Given the description of an element on the screen output the (x, y) to click on. 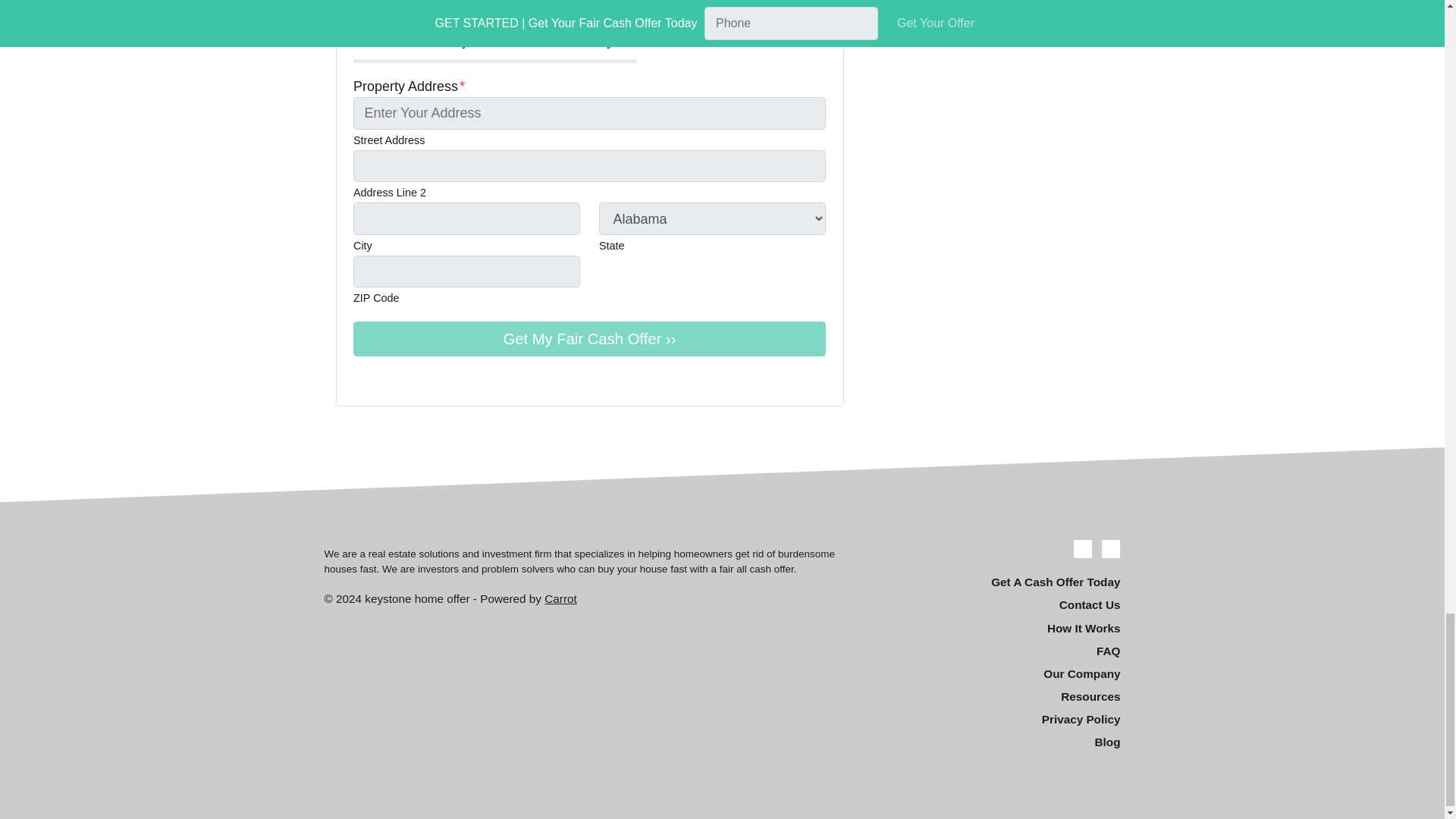
Privacy Policy (995, 719)
Instagram (383, 379)
Resources (995, 696)
Facebook (362, 379)
Contact Us (995, 605)
How It Works (995, 628)
FAQ (995, 650)
Facebook (1083, 548)
Get A Cash Offer Today (995, 582)
Our Company (995, 673)
